Given the description of an element on the screen output the (x, y) to click on. 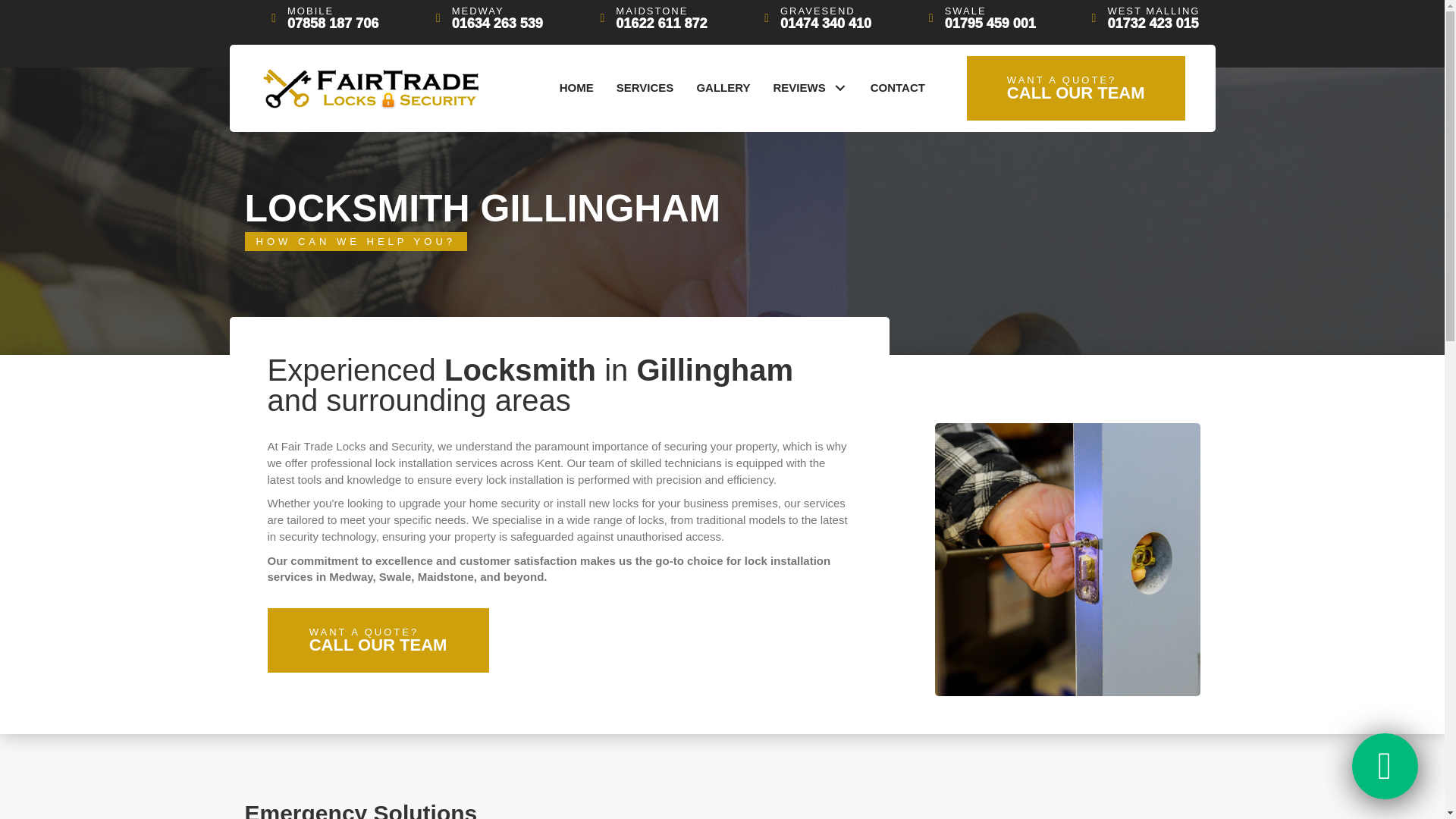
HOME (825, 18)
Fairtrade-locksmiths-logo1-300x60 (576, 87)
REVIEWS (376, 640)
CONTACT (372, 87)
SERVICES (989, 18)
GALLERY (810, 87)
